Given the description of an element on the screen output the (x, y) to click on. 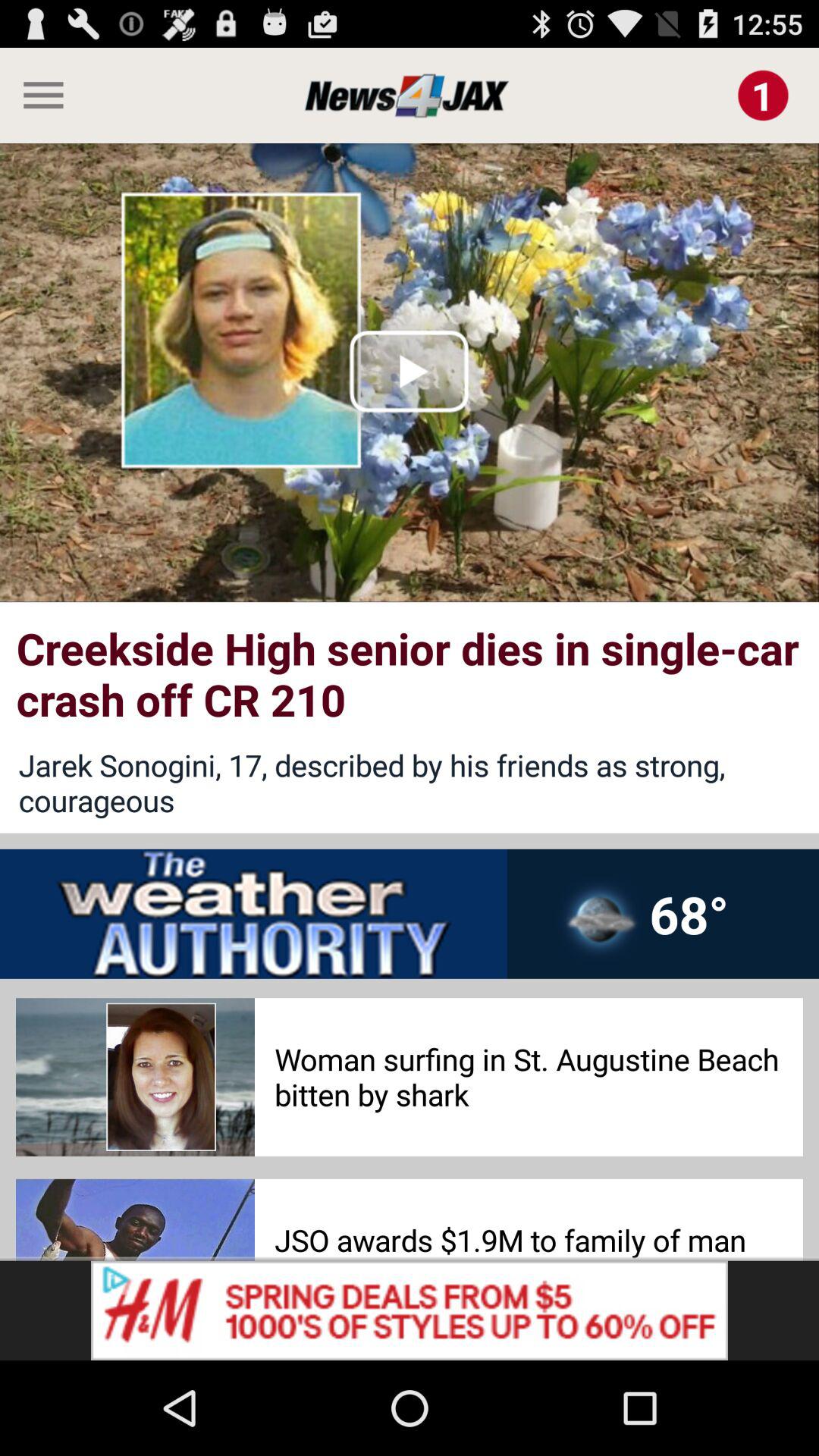
offer box (409, 1310)
